Given the description of an element on the screen output the (x, y) to click on. 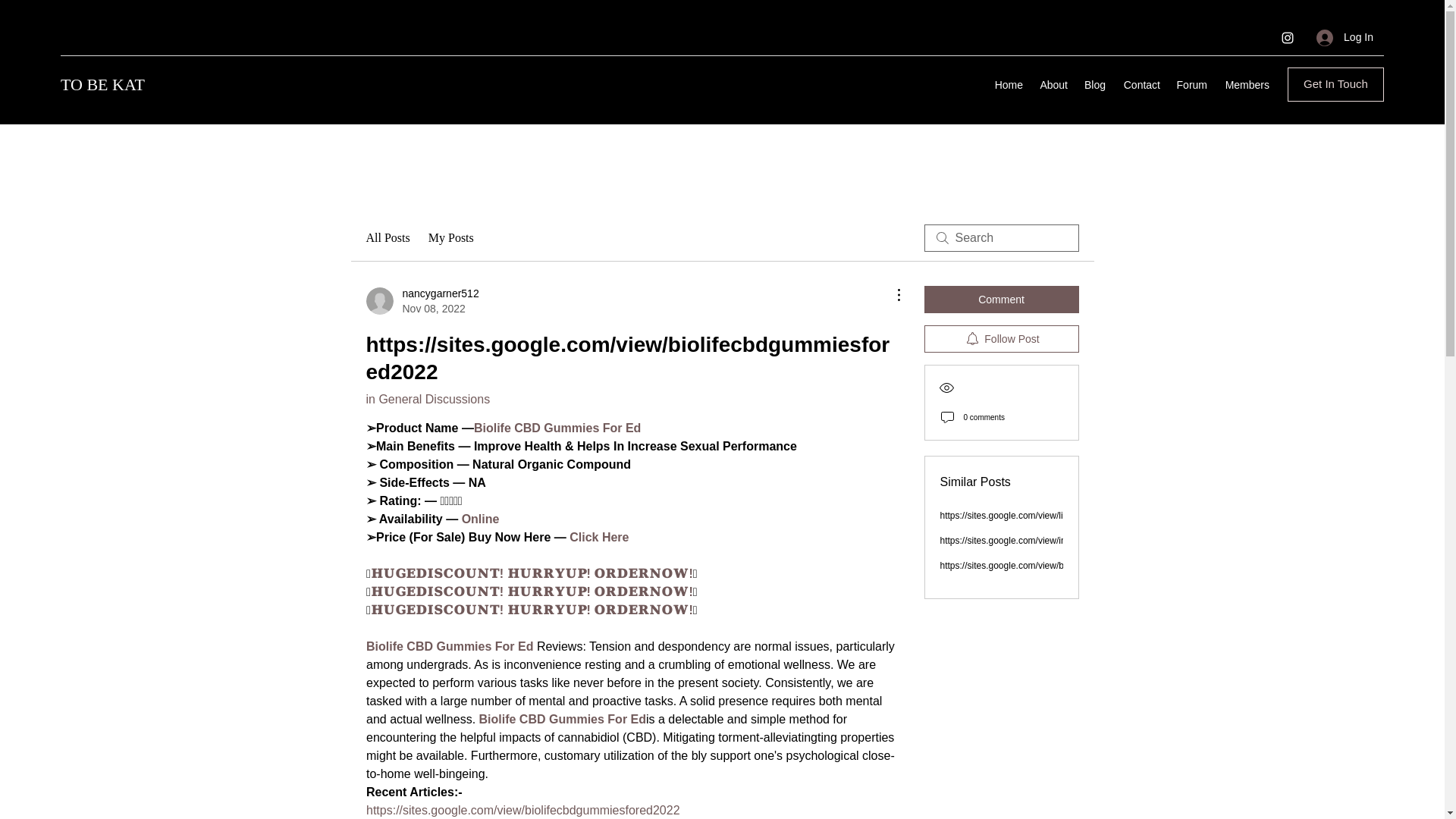
My Posts (451, 238)
All Posts (387, 238)
Forum (1190, 84)
Log In (1345, 37)
in General Discussions (422, 300)
Blog (427, 399)
About (1094, 84)
 Online (1052, 84)
TO BE KAT (478, 518)
